Given the description of an element on the screen output the (x, y) to click on. 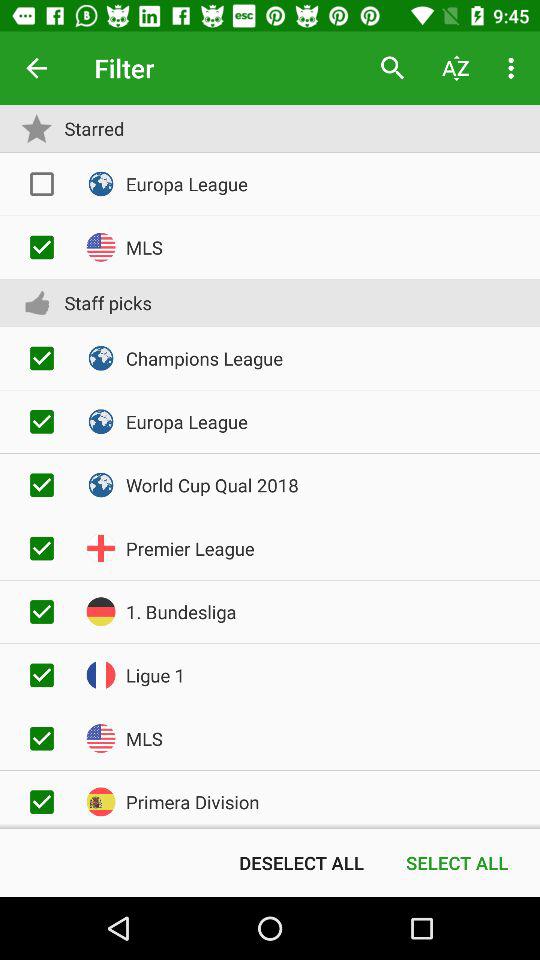
tap deselect all icon (301, 862)
